Given the description of an element on the screen output the (x, y) to click on. 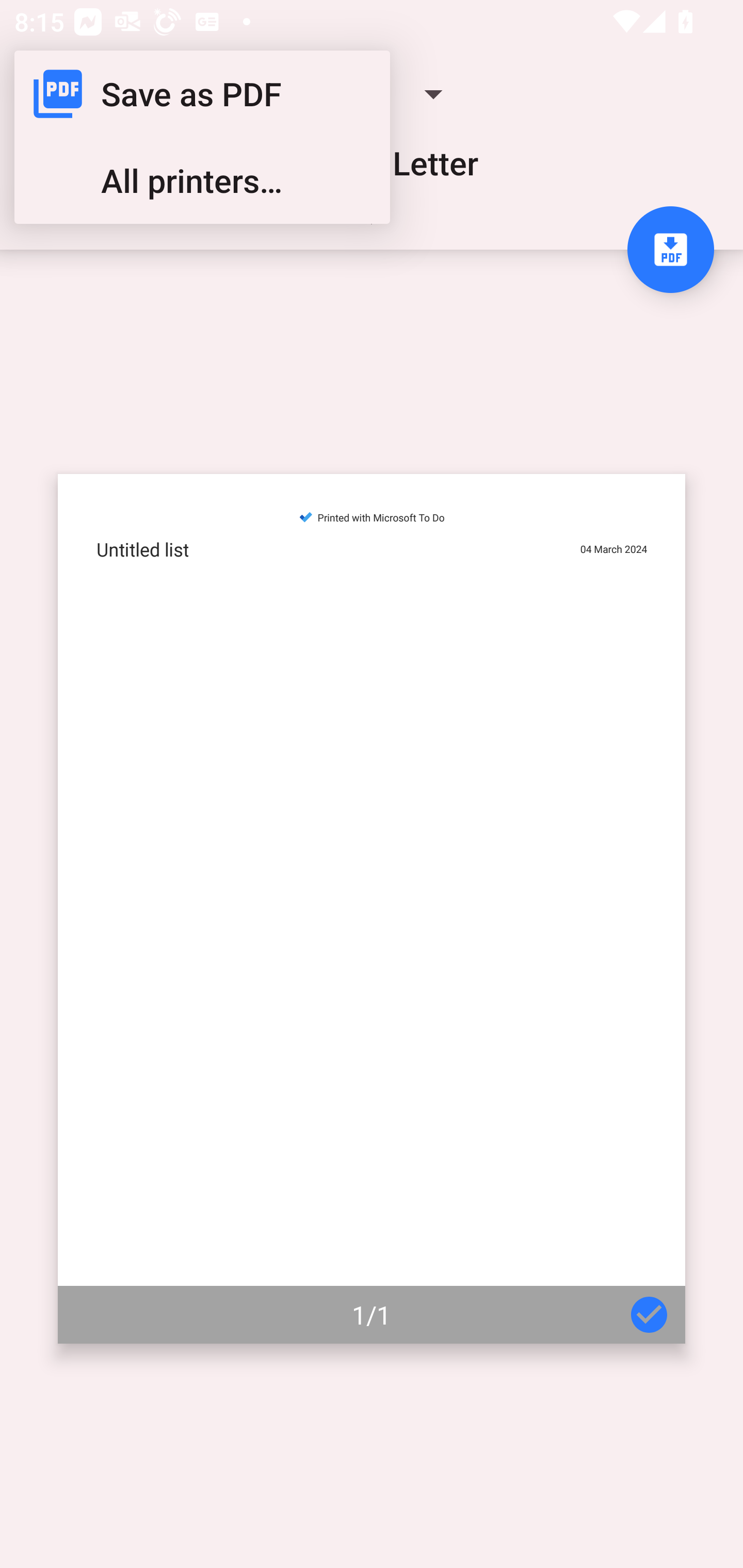
Save as PDF (202, 93)
All printers… (202, 180)
